Given the description of an element on the screen output the (x, y) to click on. 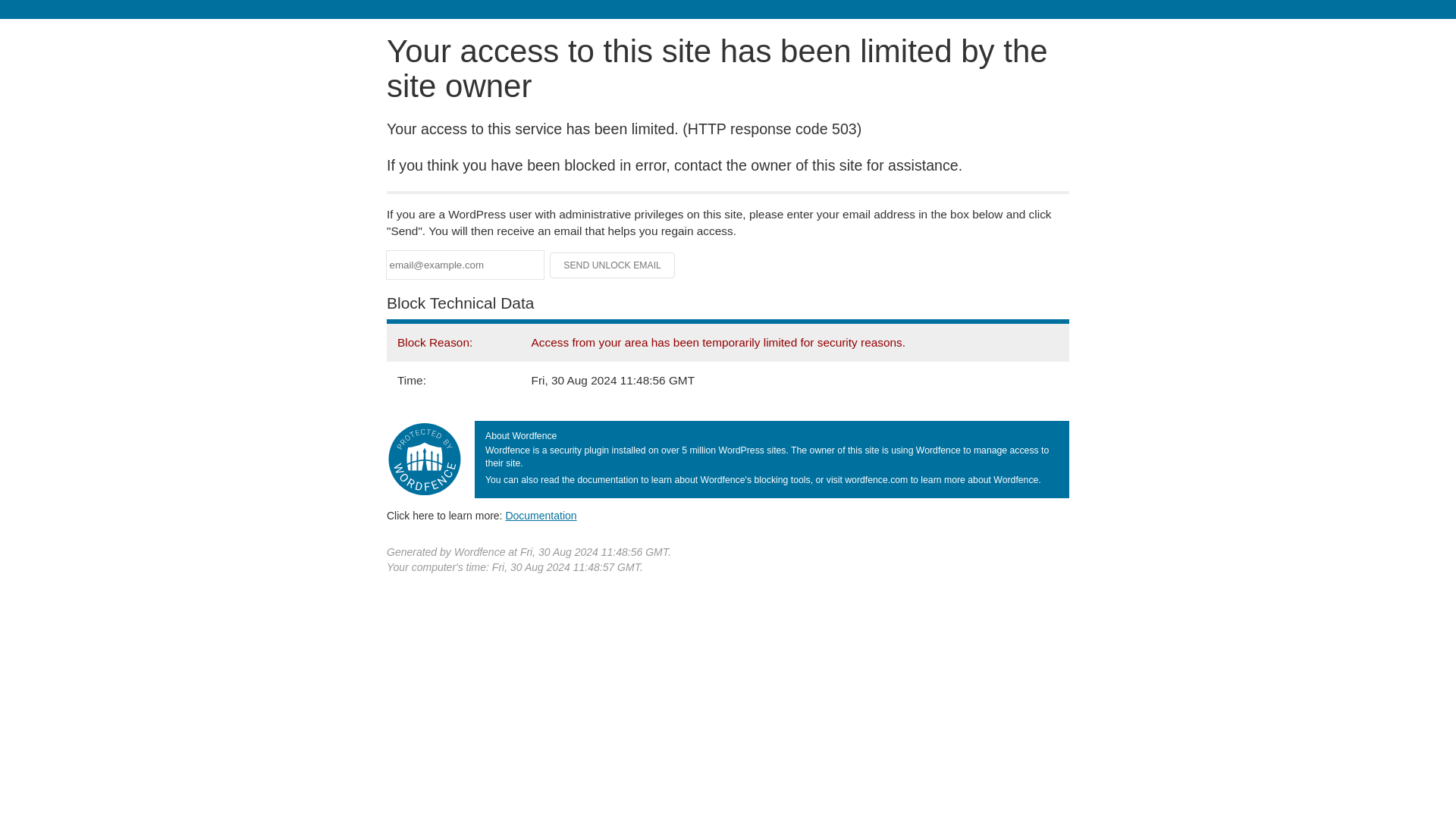
Send Unlock Email (612, 265)
Send Unlock Email (612, 265)
Documentation (540, 515)
